Given the description of an element on the screen output the (x, y) to click on. 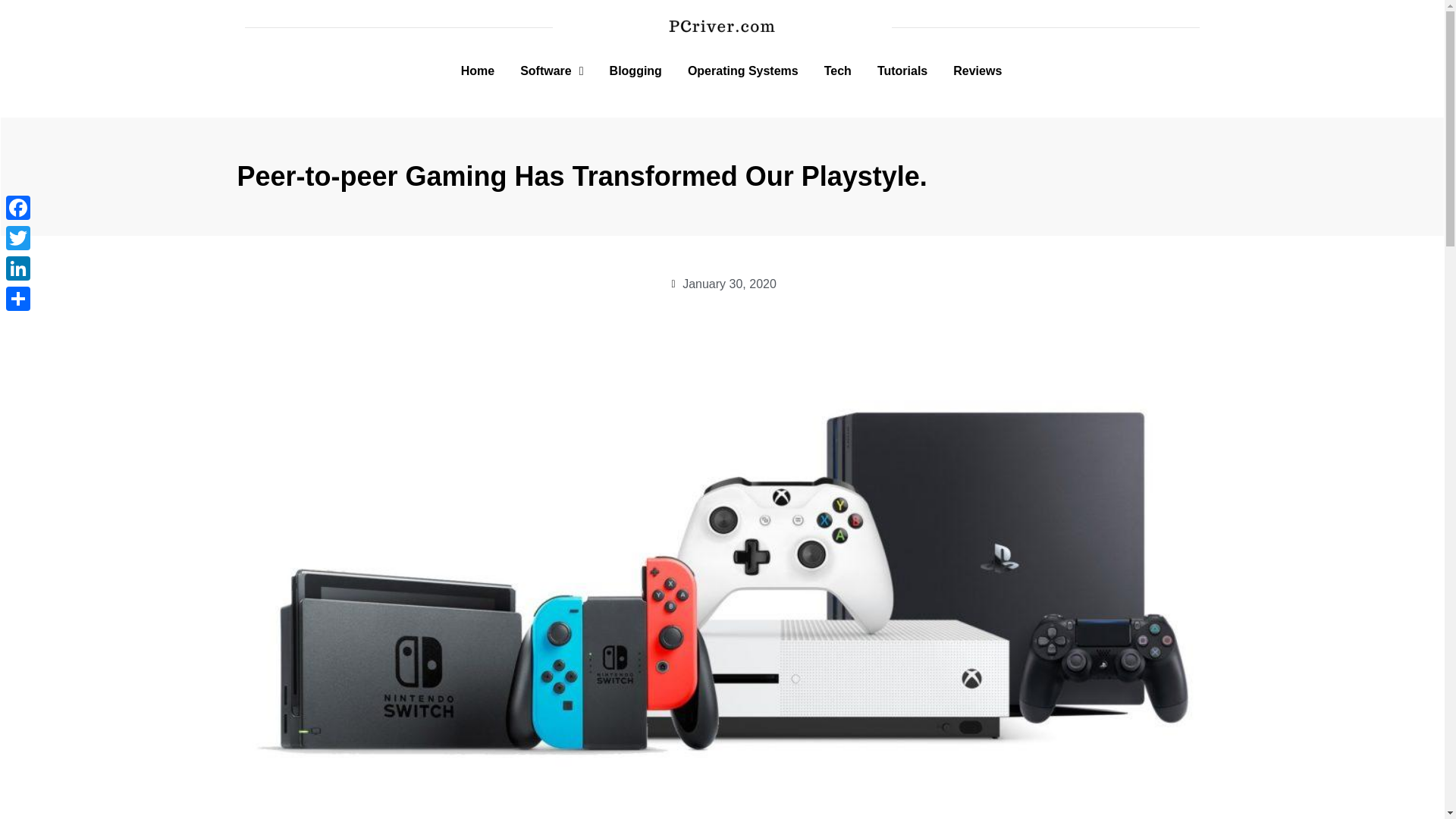
Facebook (17, 207)
Reviews (977, 71)
Tutorials (902, 71)
LinkedIn (17, 268)
Operating Systems (742, 71)
Software (551, 71)
Blogging (636, 71)
Tech (837, 71)
Twitter (17, 237)
January 30, 2020 (722, 283)
Home (478, 71)
